Given the description of an element on the screen output the (x, y) to click on. 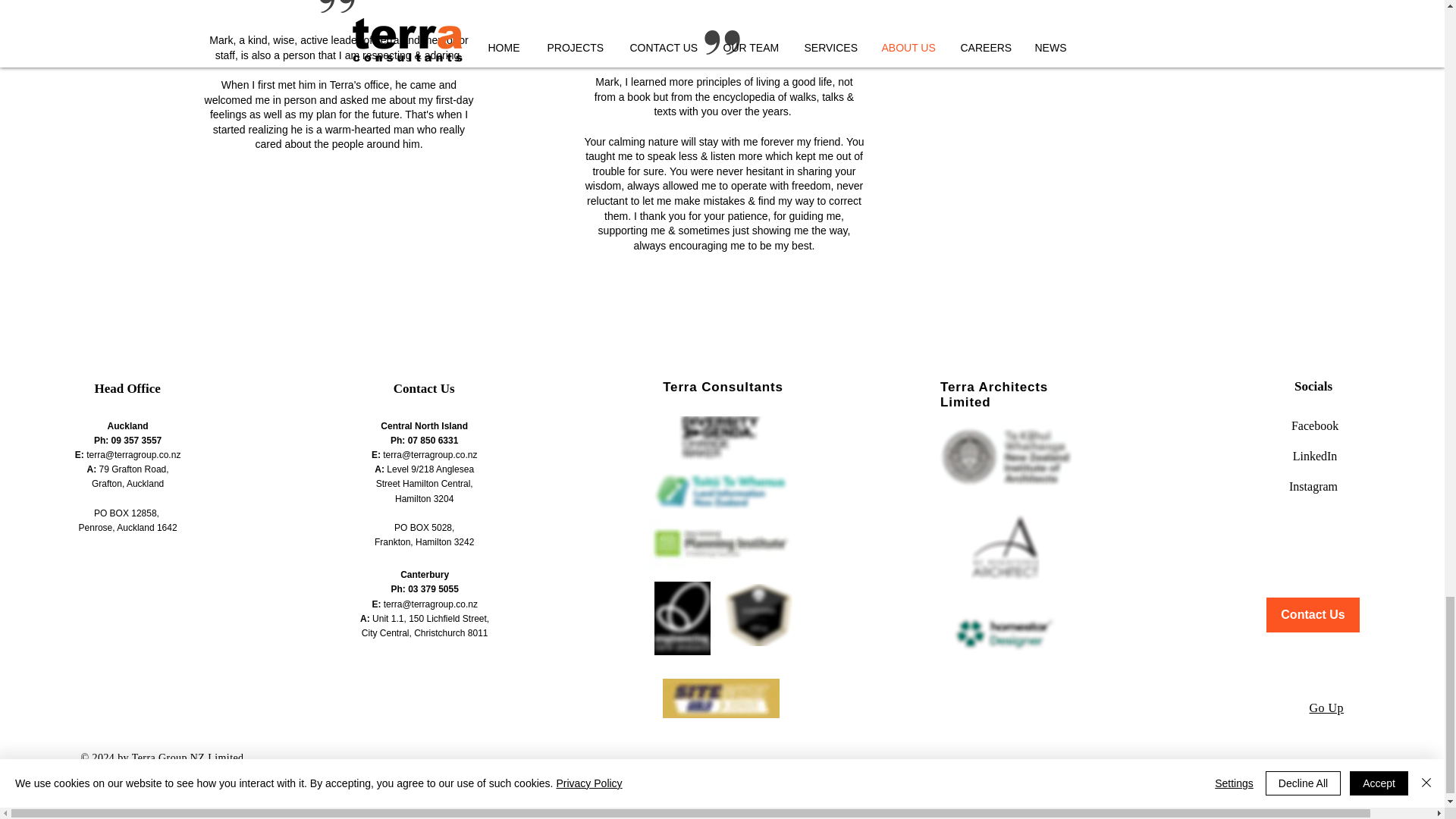
07 850 6331 (432, 439)
Ph: 03 379 5055 (424, 588)
 Instagram  (1312, 484)
 LinkedIn (1314, 454)
 Facebook (1313, 425)
Ph: 09 357 3557 (127, 439)
Auckland (127, 425)
Contact Us (423, 388)
